Given the description of an element on the screen output the (x, y) to click on. 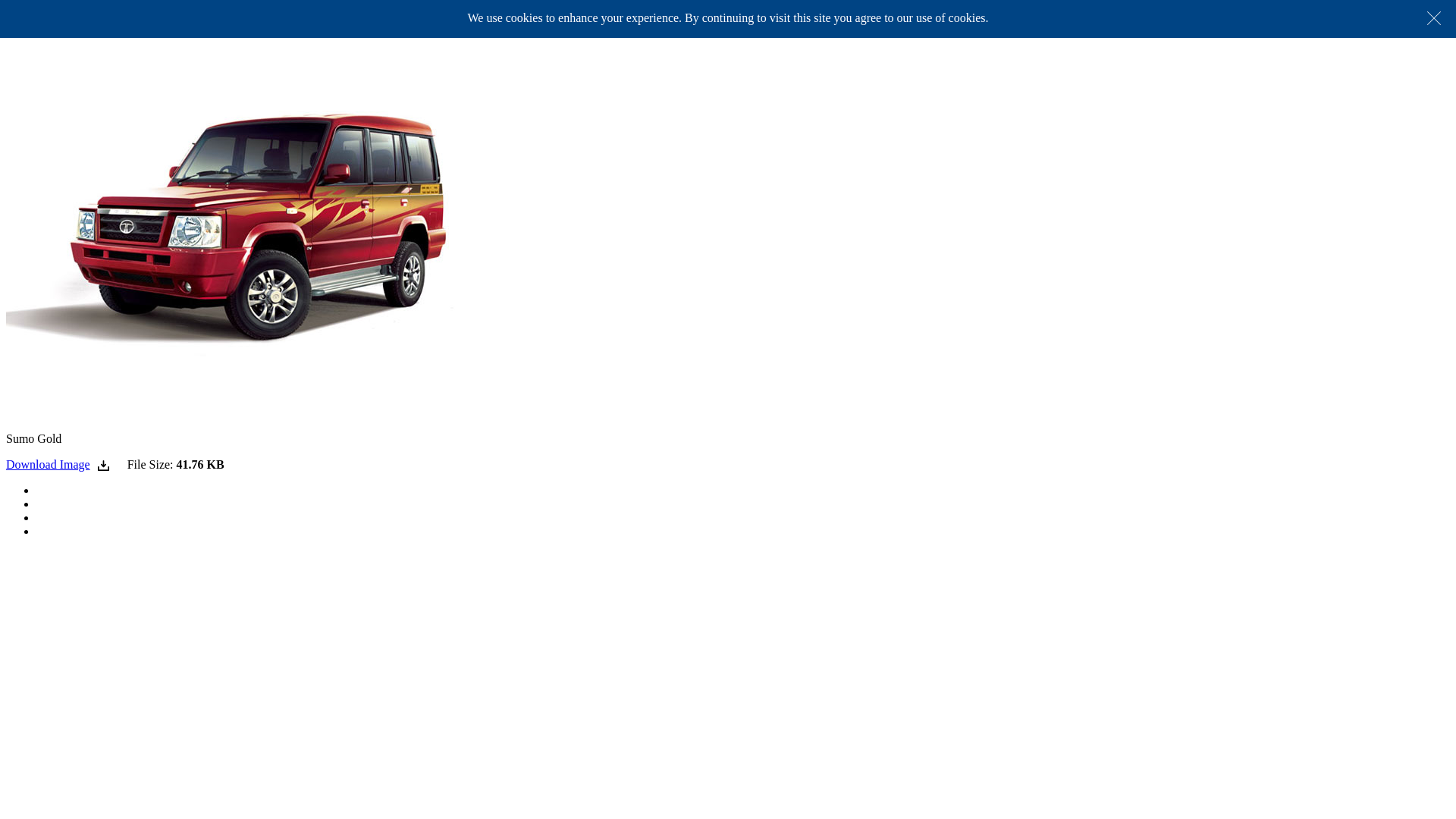
Download Image Element type: text (57, 464)
